Given the description of an element on the screen output the (x, y) to click on. 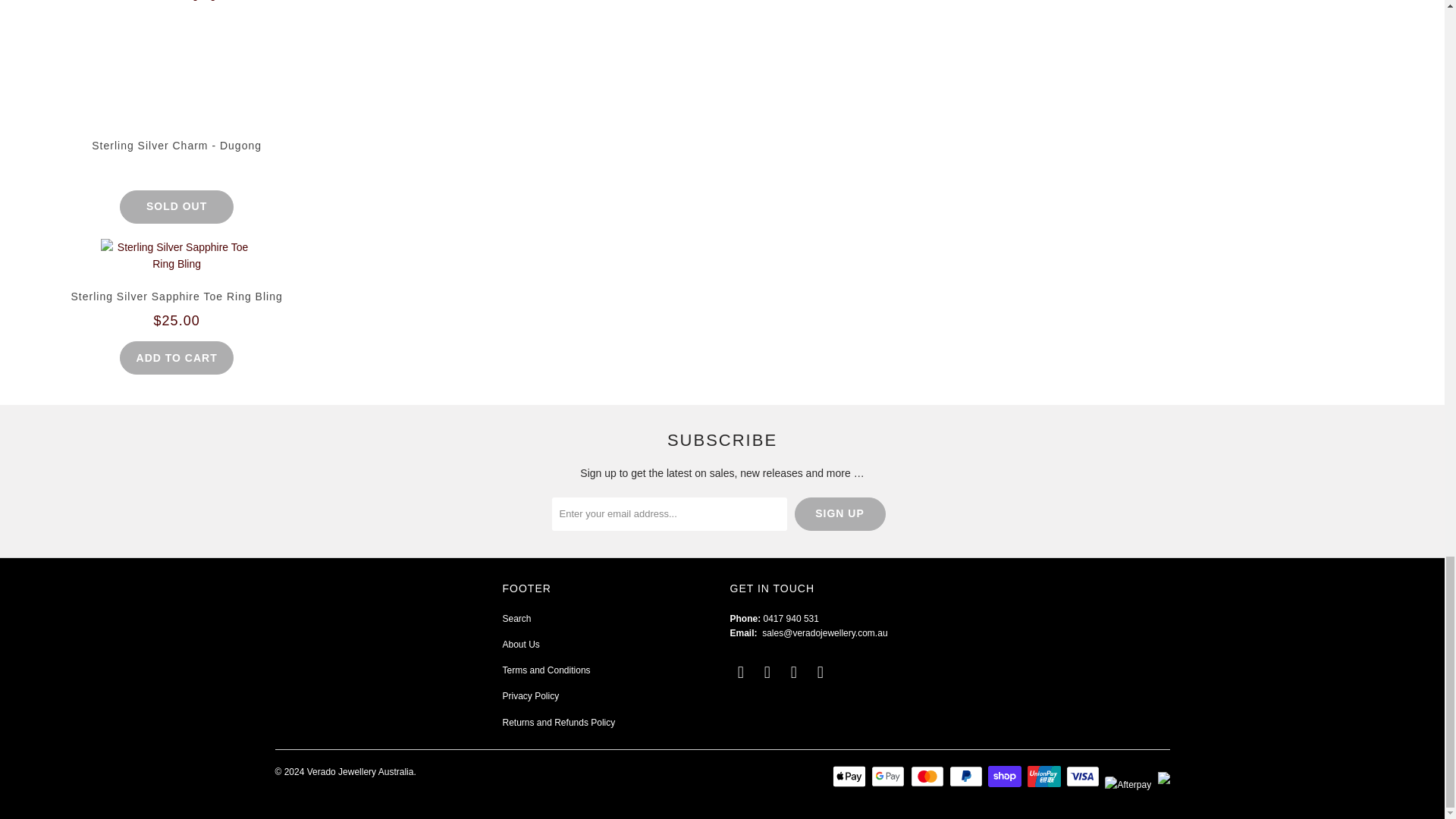
Union Pay (1045, 775)
Visa (1083, 775)
PayPal (967, 775)
Sign Up (839, 513)
Verado Jewellery Australia on Twitter (740, 672)
Apple Pay (850, 775)
Google Pay (888, 775)
Verado Jewellery Australia on Facebook (767, 672)
Mastercard (929, 775)
Shop Pay (1006, 775)
Verado Jewellery Australia on Pinterest (794, 672)
